Given the description of an element on the screen output the (x, y) to click on. 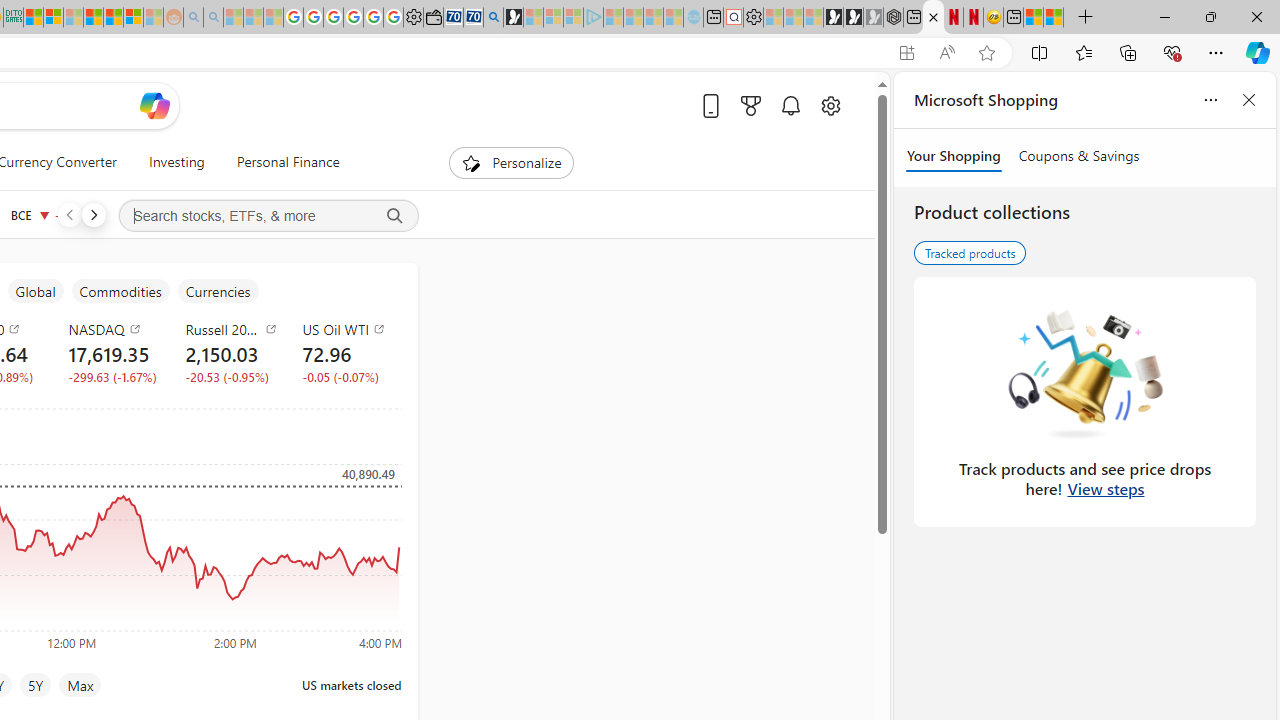
item4 (120, 291)
item5 (217, 291)
Russell 2000 (232, 328)
Home | Sky Blue Bikes - Sky Blue Bikes - Sleeping (692, 17)
Next (93, 214)
item3 (35, 291)
